Given the description of an element on the screen output the (x, y) to click on. 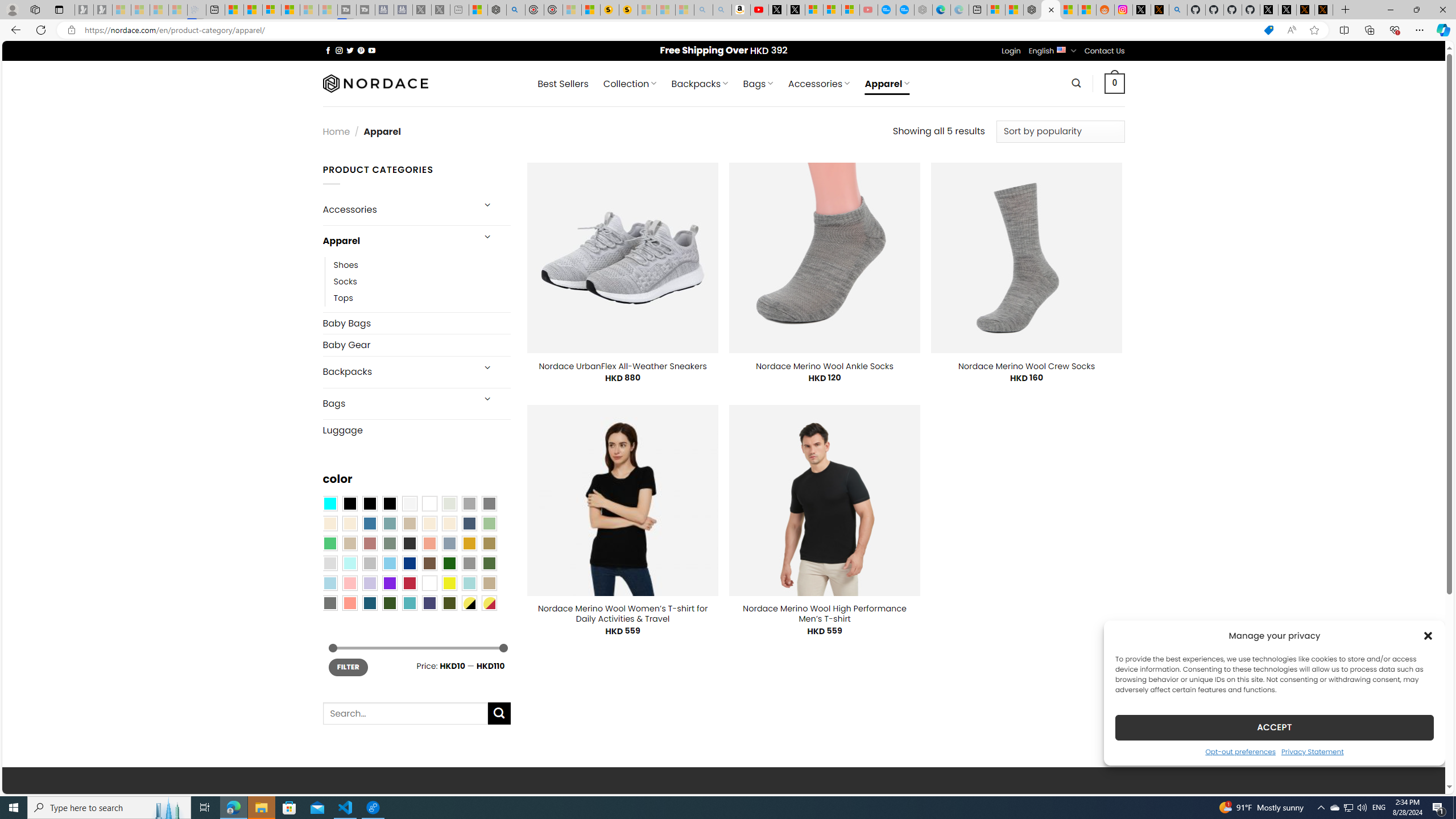
Newsletter Sign Up - Sleeping (102, 9)
Emerald Green (329, 542)
Socks (344, 280)
Baby Bags (416, 323)
Home (335, 131)
Nordace - Apparel (1050, 9)
Contact Us (1104, 50)
Follow on Facebook (327, 49)
Nordace - Nordace has arrived Hong Kong - Sleeping (923, 9)
help.x.com | 524: A timeout occurred (1159, 9)
